Given the description of an element on the screen output the (x, y) to click on. 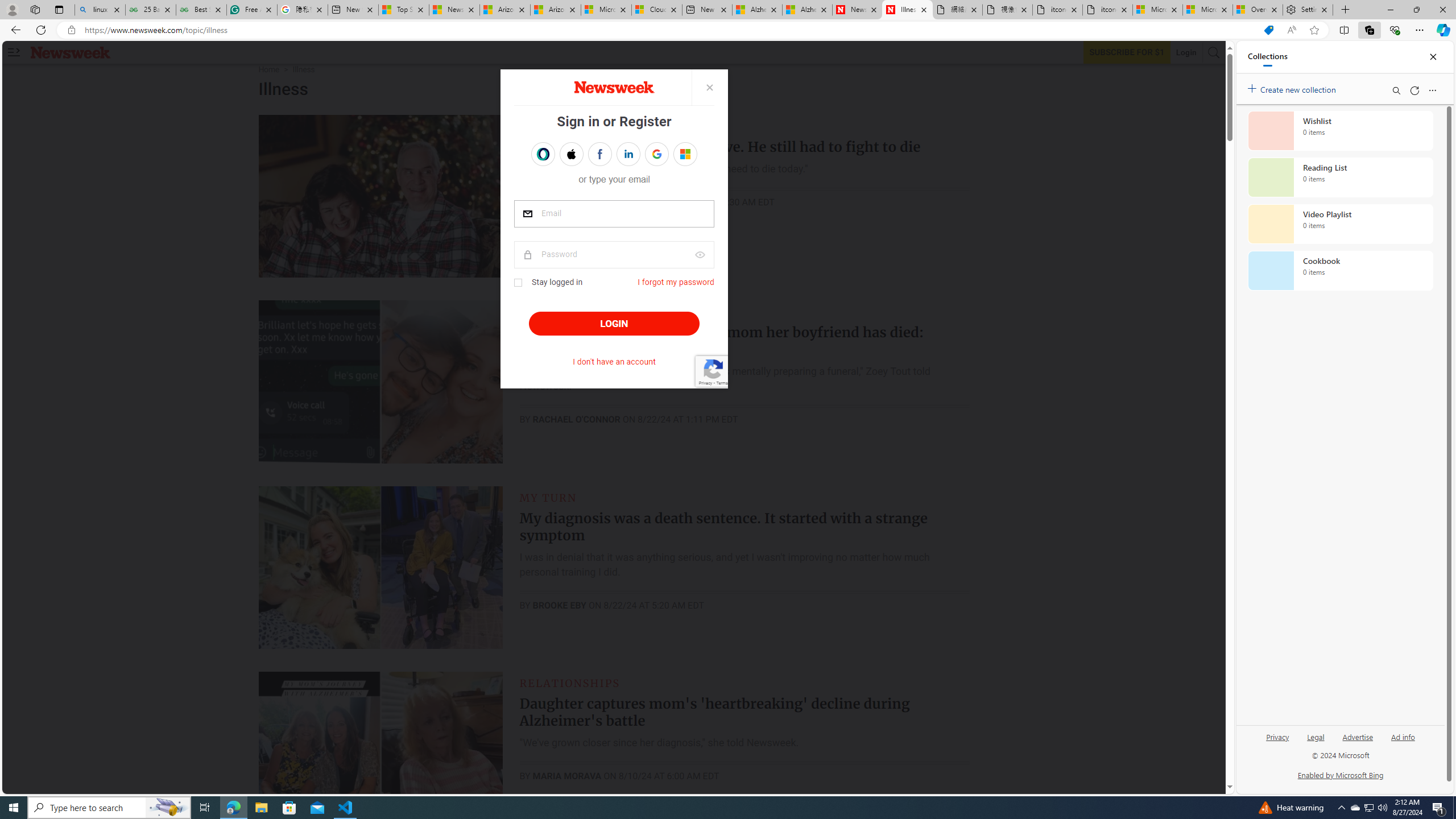
Overview (1257, 9)
News - MSN (453, 9)
Cloud Computing Services | Microsoft Azure (656, 9)
Terms (721, 382)
Sign in with OPENPASS (541, 154)
